Given the description of an element on the screen output the (x, y) to click on. 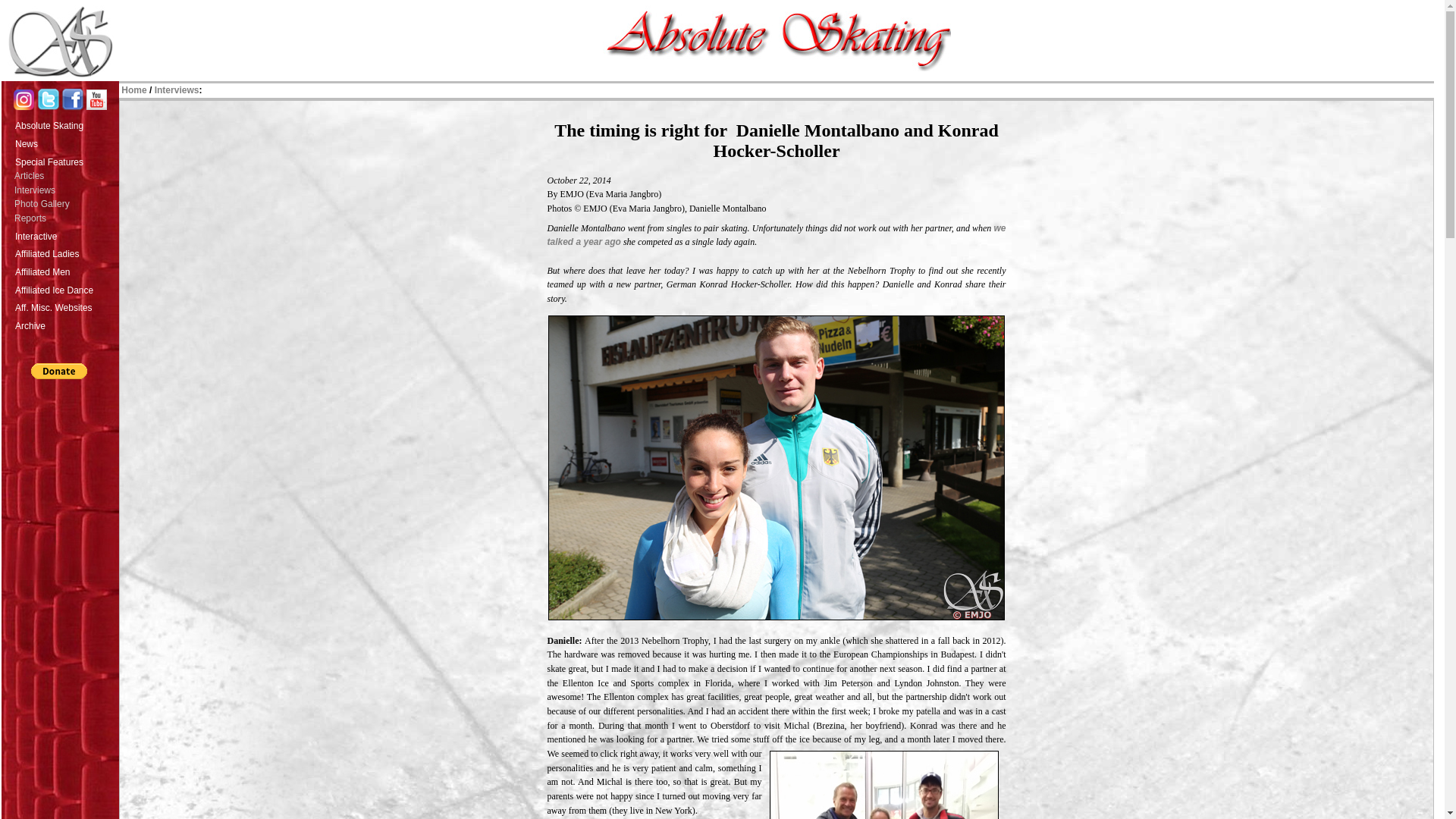
Photo Gallery (66, 204)
Interviews (66, 190)
Aff. Misc. Websites (65, 306)
Special Features (65, 160)
Affiliated Ladies (65, 252)
Absolute Skating (65, 124)
News (65, 142)
Affiliated Men (65, 270)
Articles (66, 175)
Affiliated Ice Dance (65, 289)
Interactive (65, 235)
Reports (66, 218)
Support the site (57, 371)
